Given the description of an element on the screen output the (x, y) to click on. 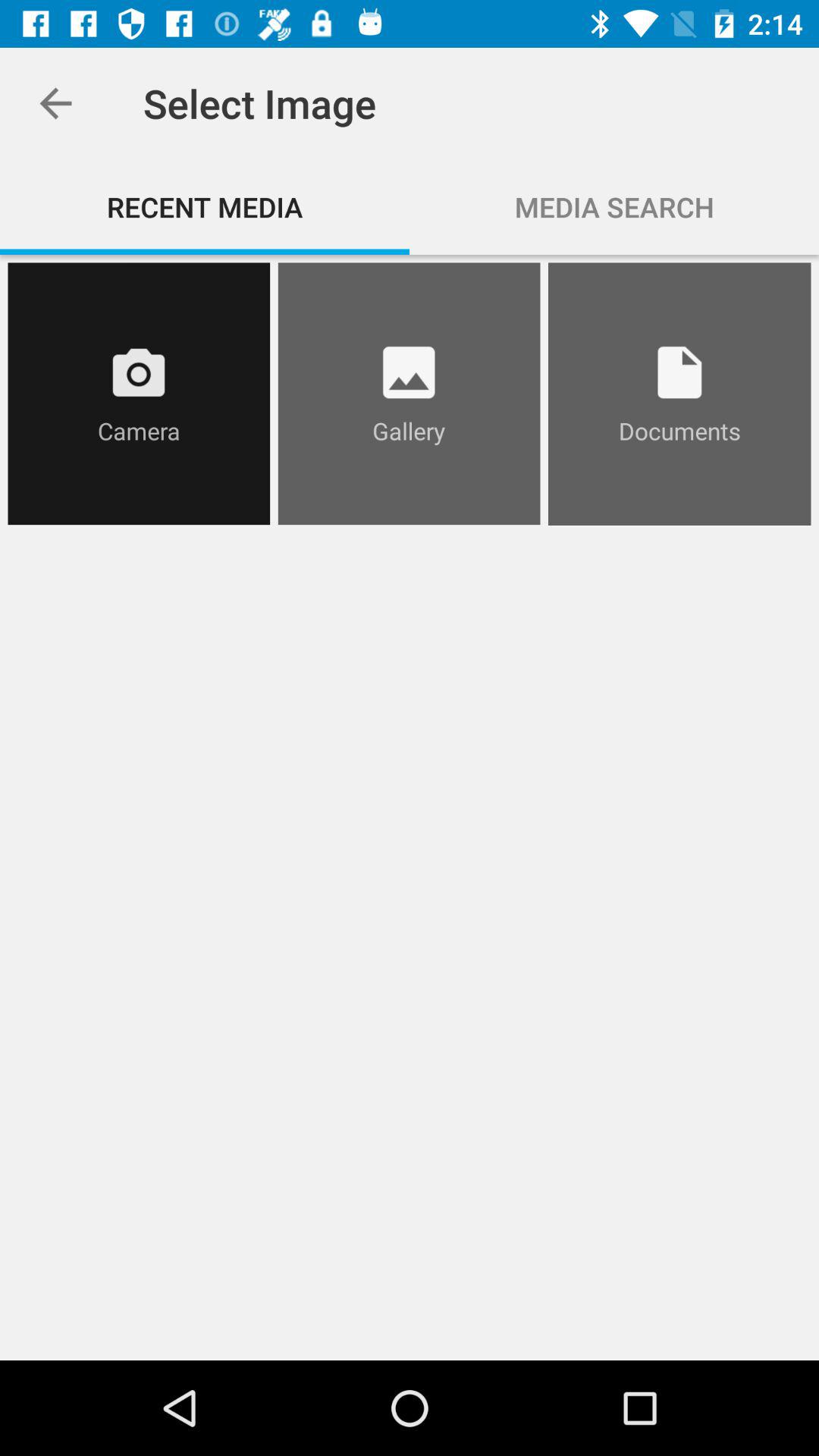
select the media search (614, 206)
